Given the description of an element on the screen output the (x, y) to click on. 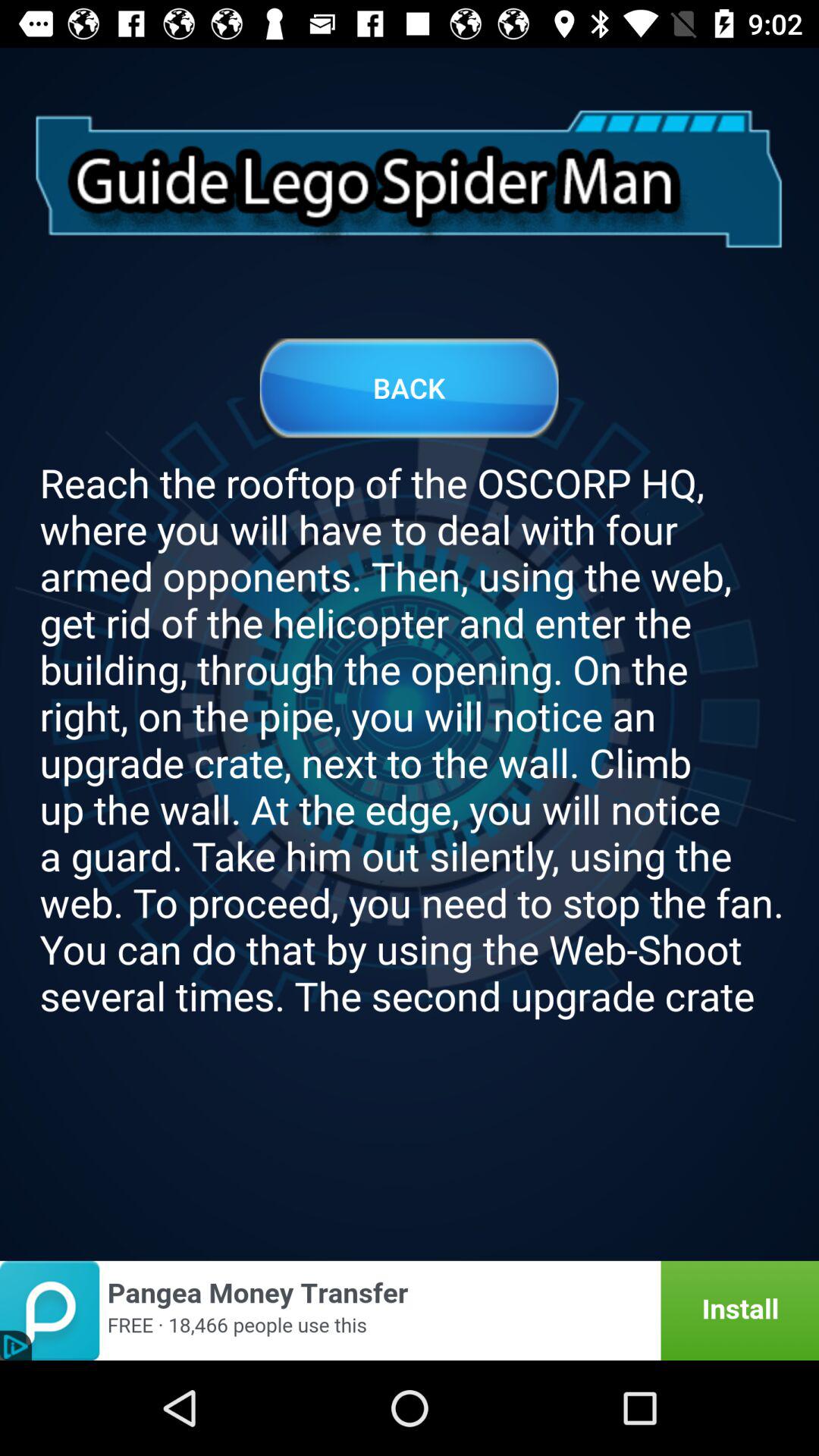
open advertisement (409, 1310)
